Given the description of an element on the screen output the (x, y) to click on. 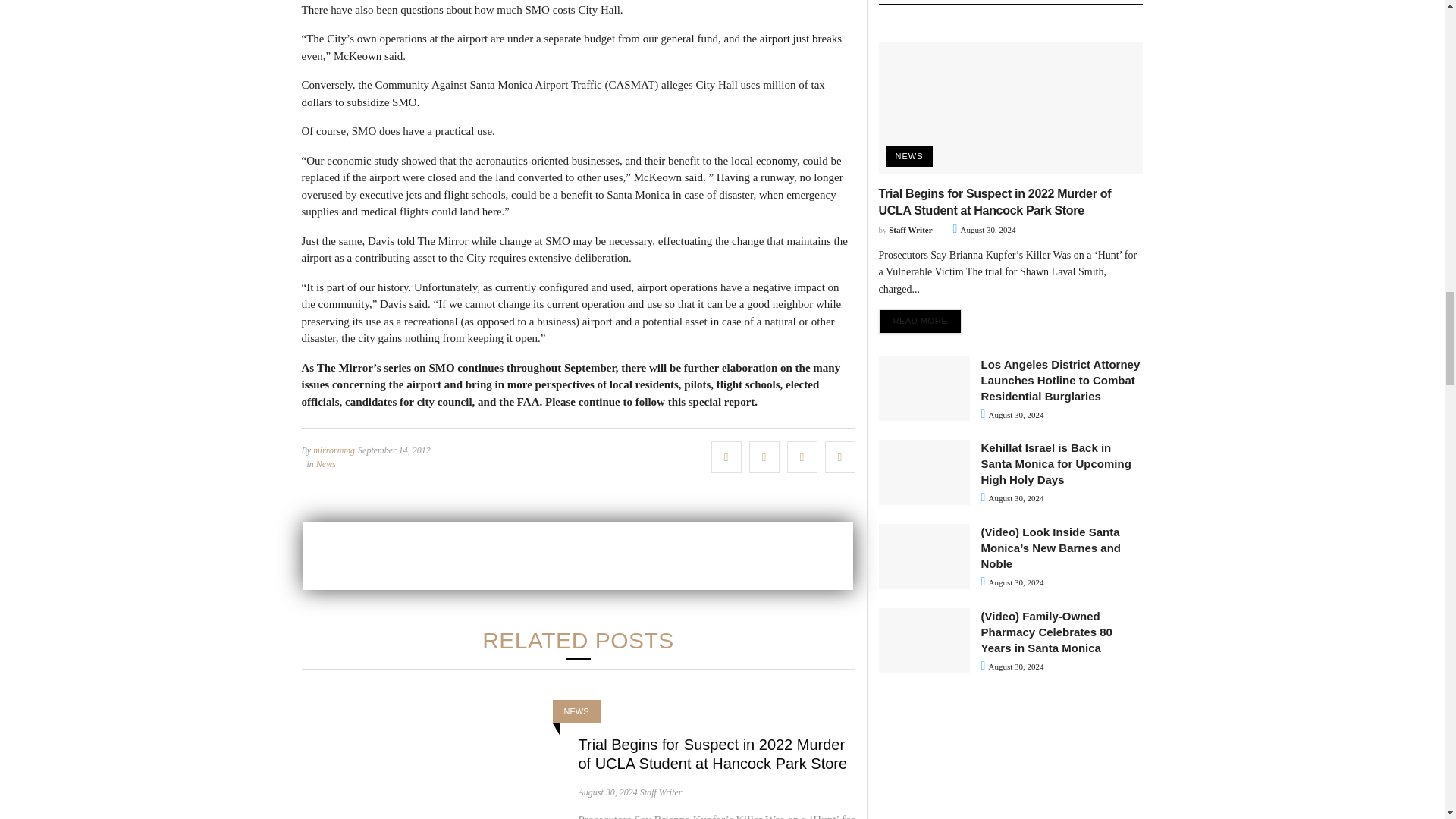
mirrormmg (334, 450)
News (325, 463)
3rd party ad content (577, 555)
Posts by mirrormmg (334, 450)
Posts by Staff Writer (661, 792)
